Given the description of an element on the screen output the (x, y) to click on. 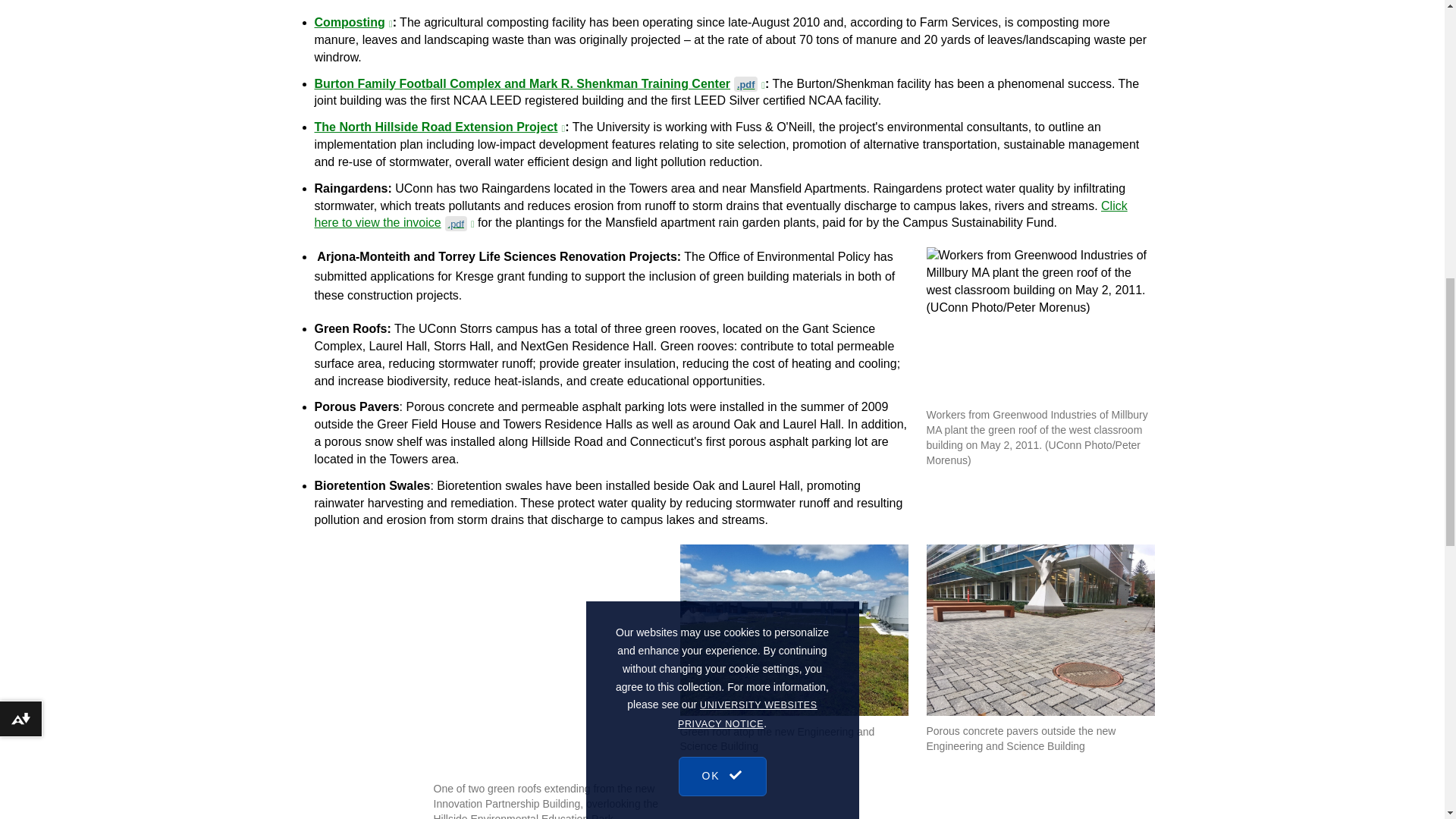
OK (721, 141)
UNIVERSITY WEBSITES PRIVACY NOTICE (747, 96)
